Given the description of an element on the screen output the (x, y) to click on. 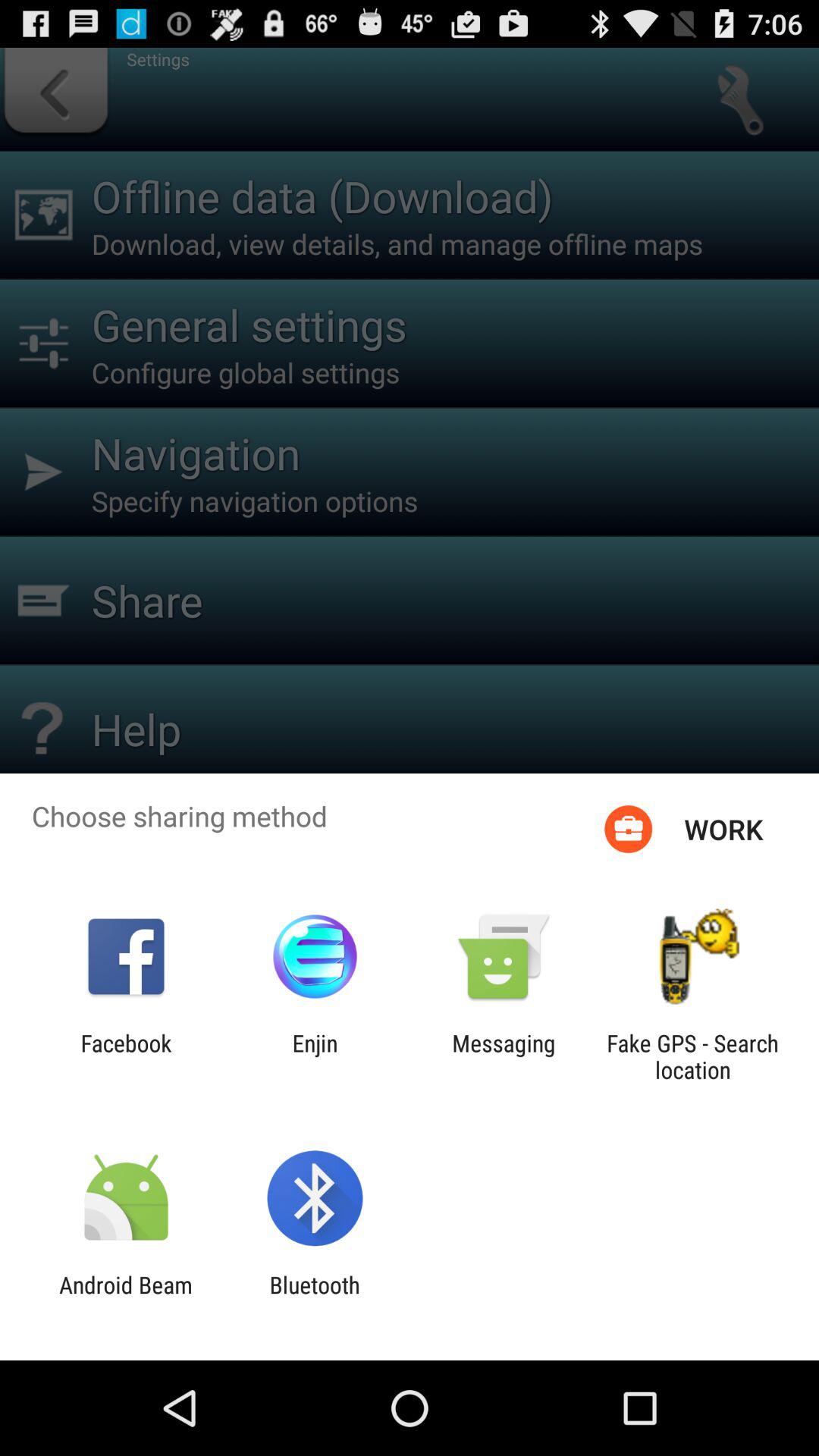
scroll until enjin (314, 1056)
